Given the description of an element on the screen output the (x, y) to click on. 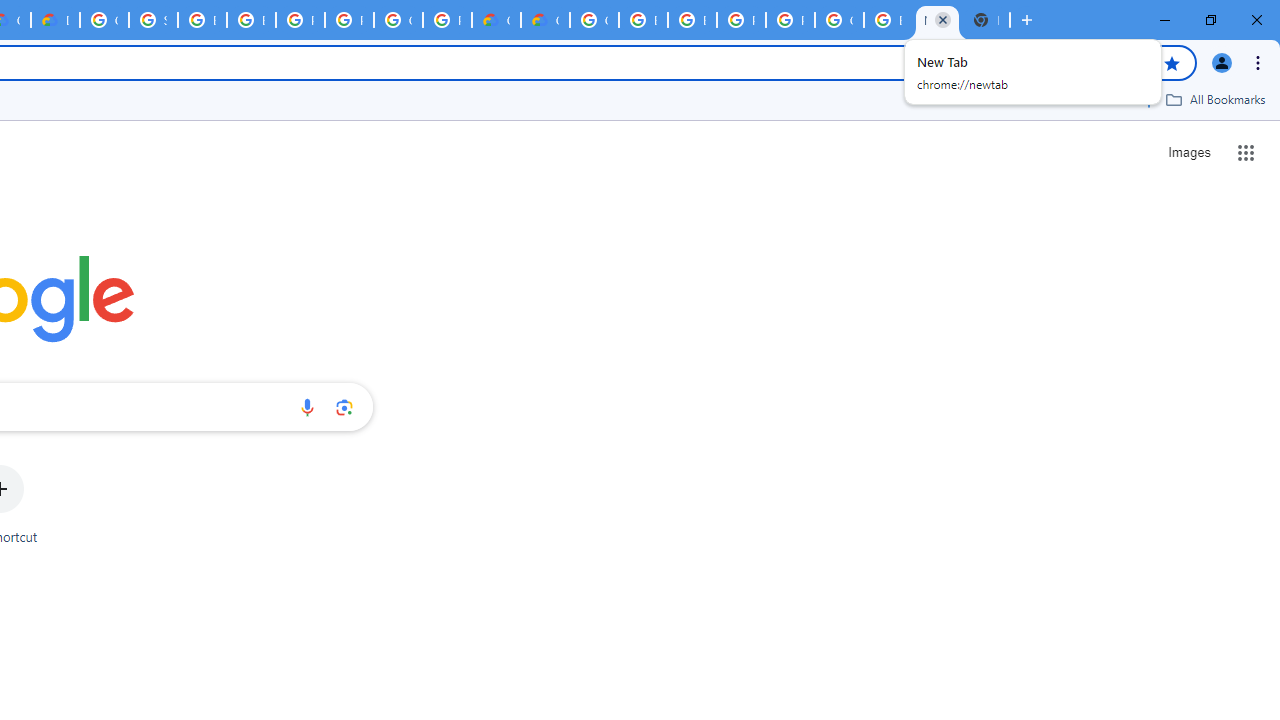
Google Cloud Platform (594, 20)
Google Cloud Platform (839, 20)
New Tab (985, 20)
Browse Chrome as a guest - Computer - Google Chrome Help (643, 20)
Customer Care | Google Cloud (496, 20)
Search for Images  (1188, 152)
